Given the description of an element on the screen output the (x, y) to click on. 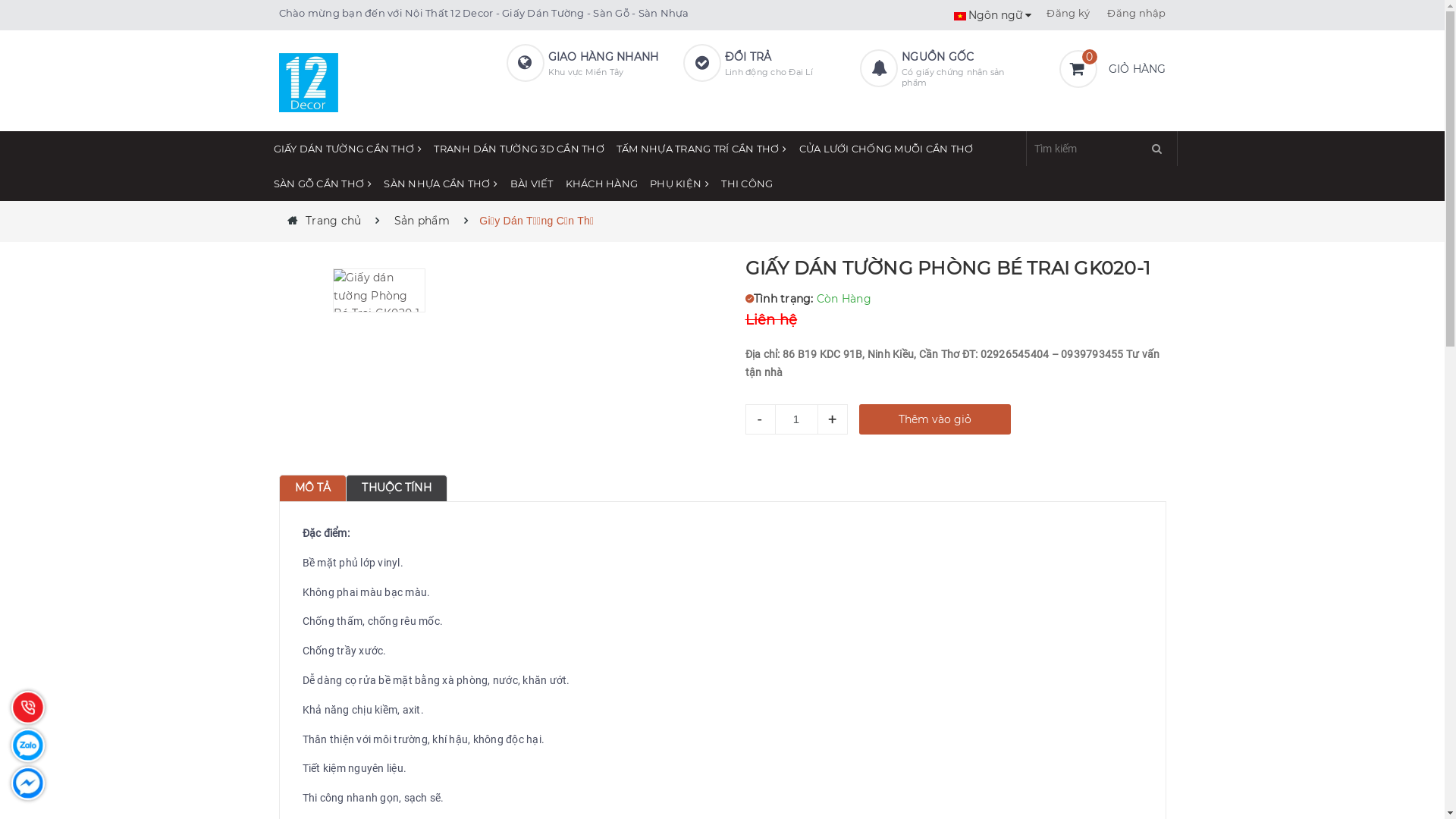
- Element type: text (759, 419)
Vietnam Element type: hover (959, 16)
+ Element type: text (832, 419)
